Given the description of an element on the screen output the (x, y) to click on. 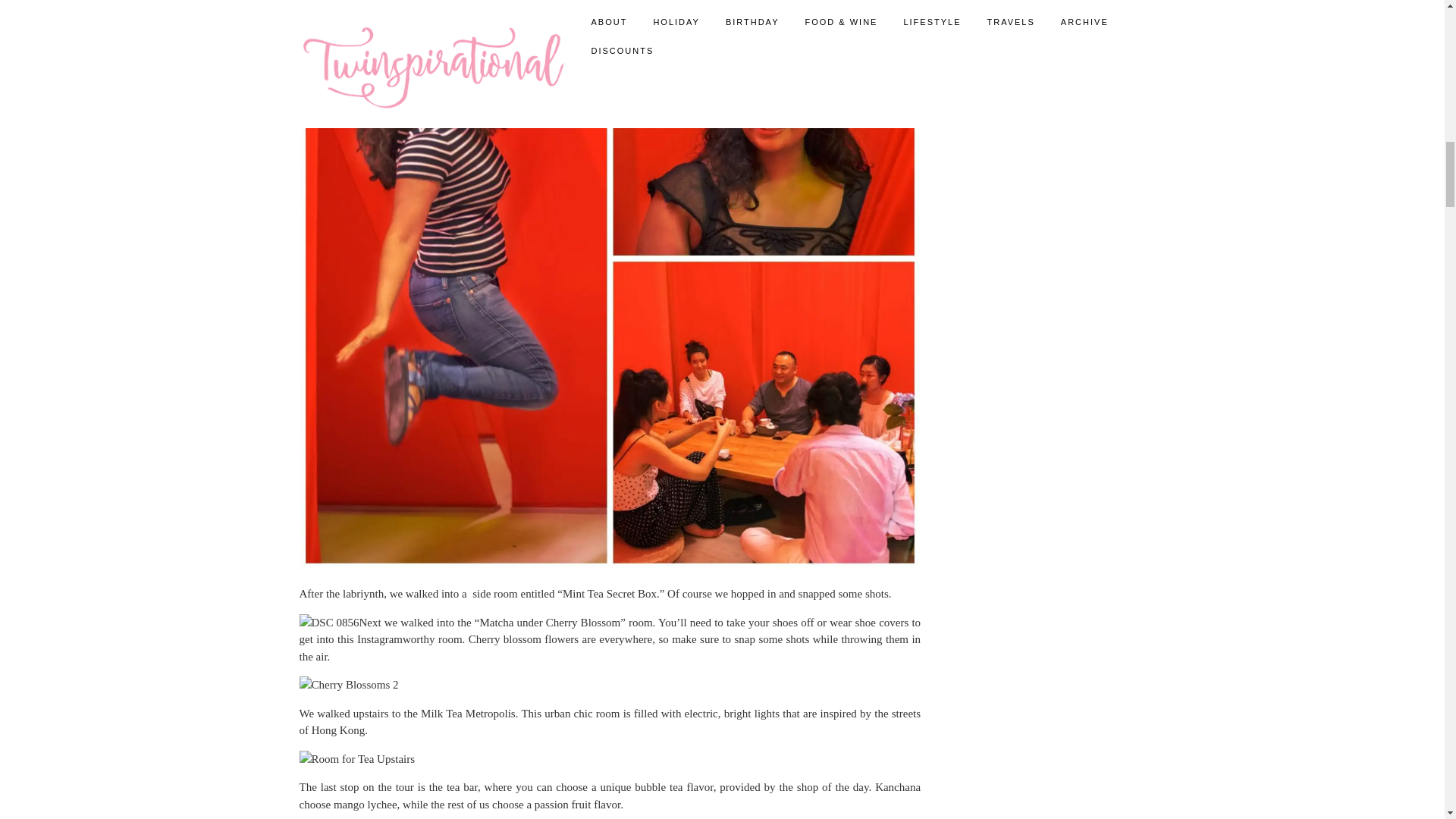
Room For Tea (347, 684)
Room For Tea (328, 622)
